Given the description of an element on the screen output the (x, y) to click on. 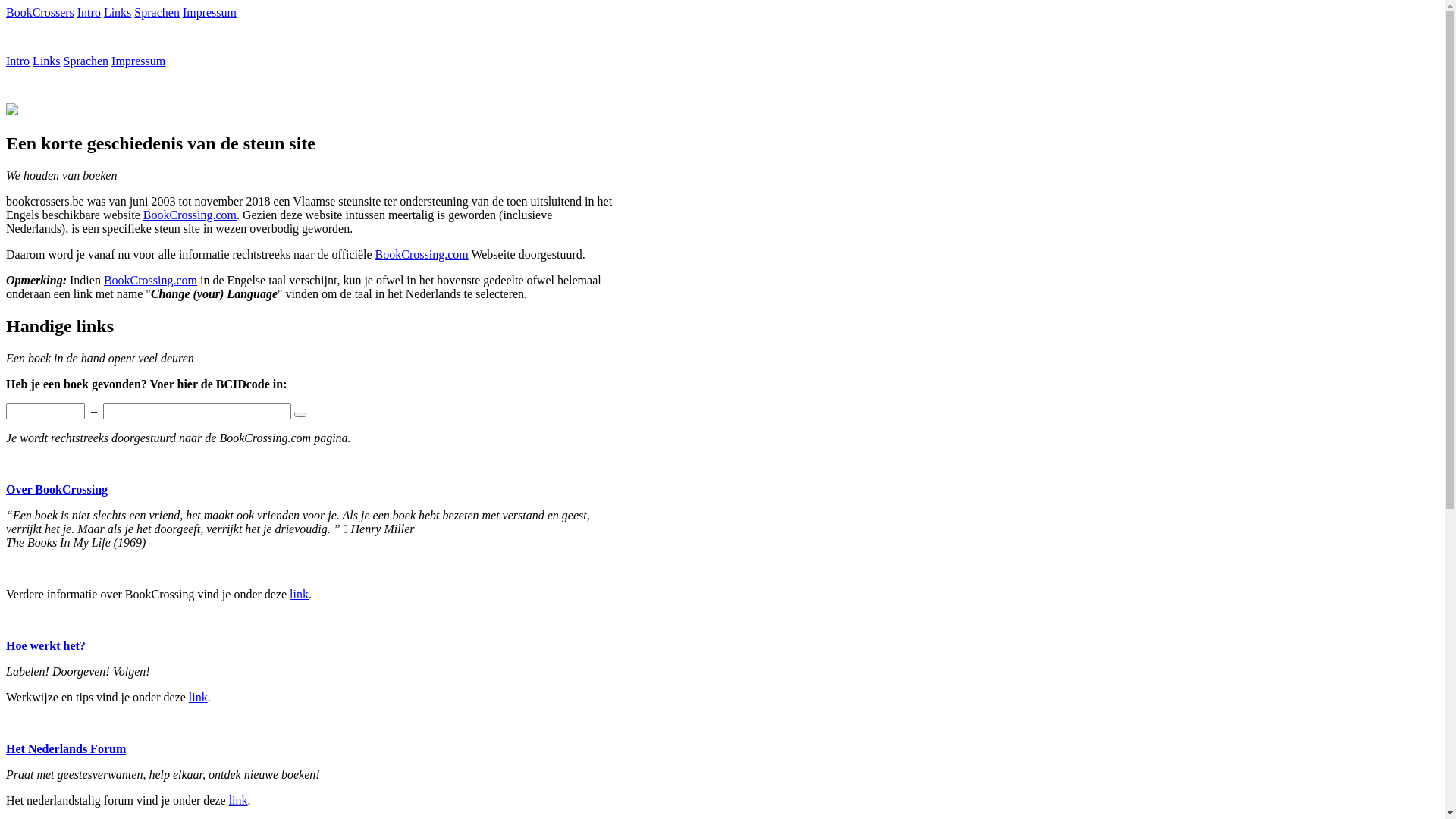
Het Nederlands Forum Element type: text (65, 748)
link Element type: text (238, 799)
link Element type: text (298, 593)
Hoe werkt het? Element type: text (45, 645)
Links Element type: text (45, 60)
Links Element type: text (117, 12)
BookCrossing.com Element type: text (189, 214)
Sprachen Element type: text (156, 12)
link Element type: text (197, 696)
Impressum Element type: text (209, 12)
BookCrossing.com Element type: text (150, 279)
BookCrossing.com Element type: text (421, 253)
Over BookCrossing Element type: text (56, 489)
Intro Element type: text (17, 60)
Impressum Element type: text (138, 60)
Intro Element type: text (88, 12)
Sprachen Element type: text (86, 60)
BookCrossers Element type: text (40, 12)
